Given the description of an element on the screen output the (x, y) to click on. 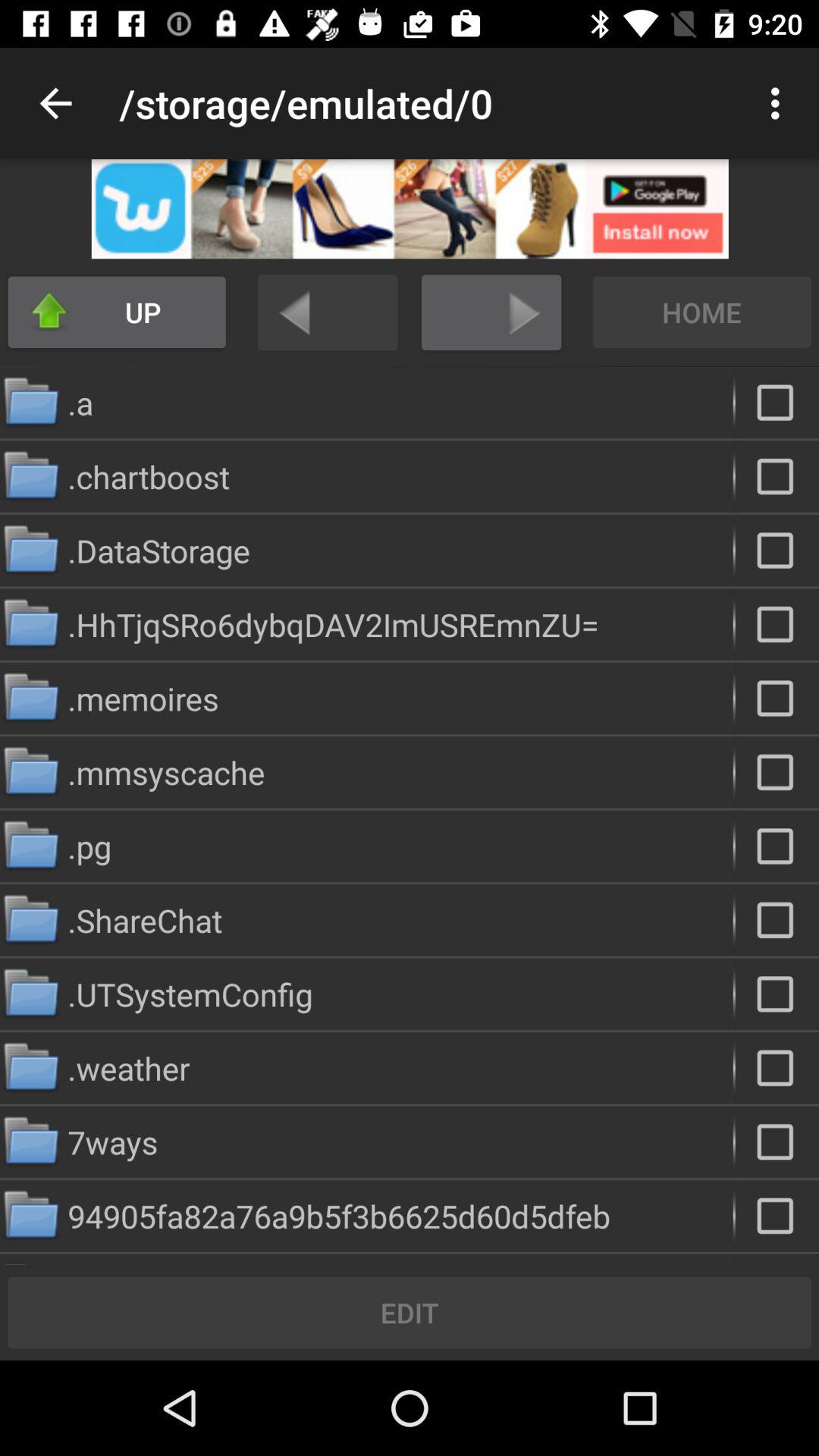
select chartboost file (777, 476)
